Given the description of an element on the screen output the (x, y) to click on. 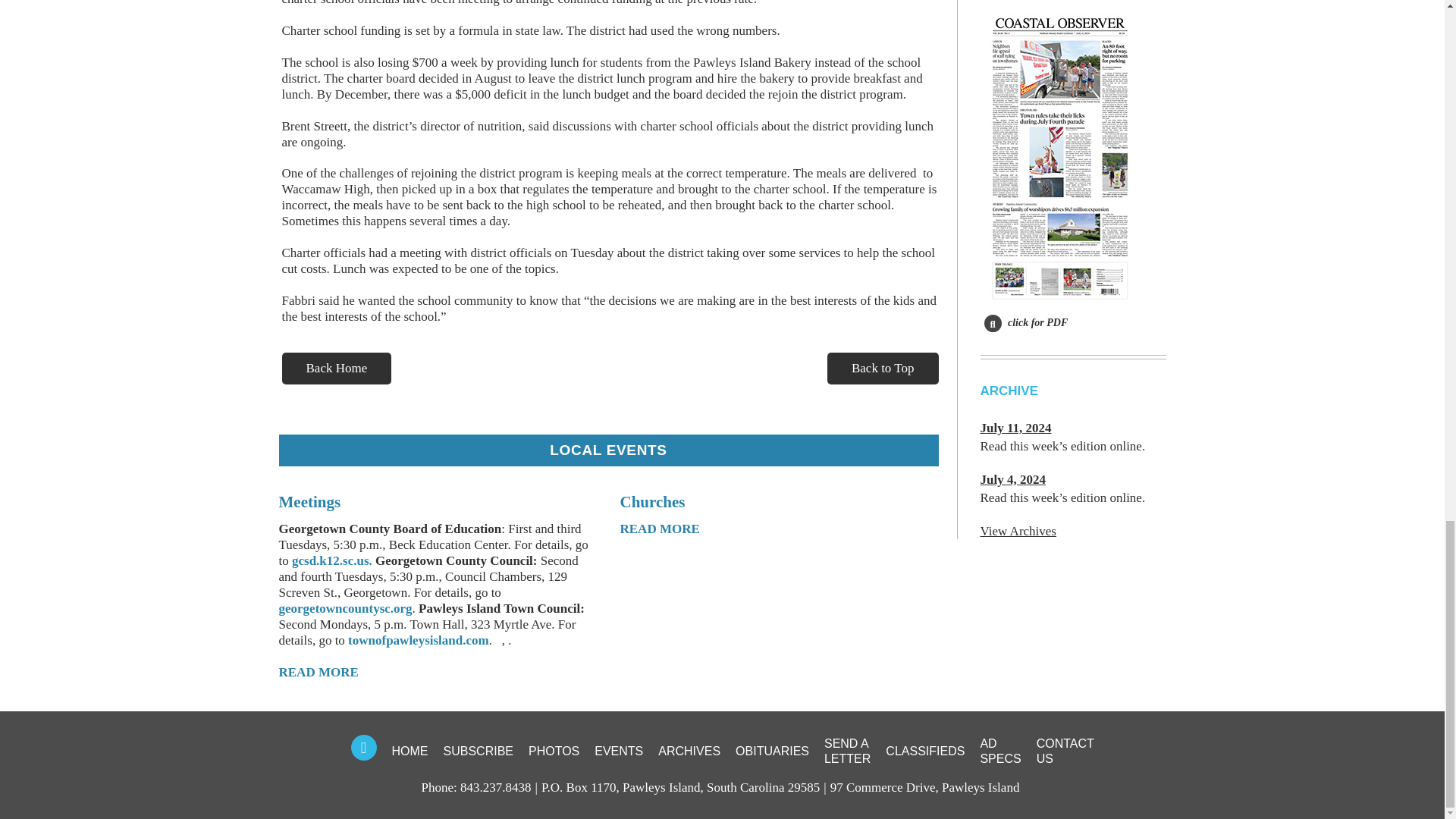
READ MORE (318, 672)
georgetowncountysc.org (345, 608)
Back to Top (883, 368)
Back Home (336, 368)
townofpawleysisland.com (418, 640)
READ MORE (660, 528)
. (370, 560)
View Archives (1017, 531)
July 4, 2024 (1012, 479)
July 11, 2024 (1015, 427)
Back to Top (883, 368)
click for PDF (1026, 322)
gcsd.k12.sc.us (330, 560)
